Given the description of an element on the screen output the (x, y) to click on. 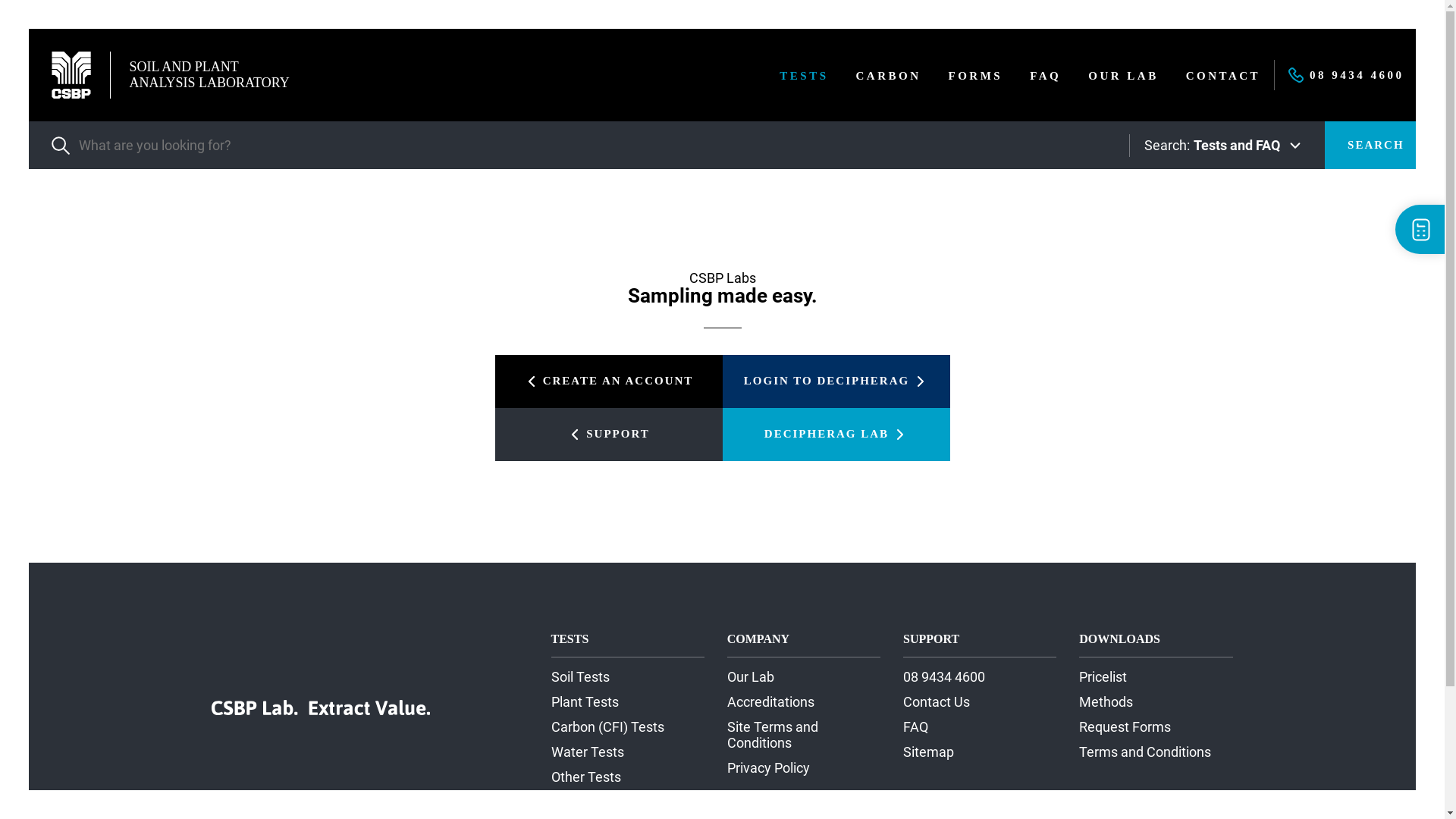
Soil Tests Element type: text (580, 676)
Contact Us Element type: text (936, 701)
Privacy Policy Element type: text (768, 767)
CSBP Element type: hover (71, 74)
Plant Tests Element type: text (584, 701)
TESTS Element type: text (803, 75)
Our Lab Element type: text (750, 676)
Site Terms and Conditions Element type: text (772, 734)
CREATE AN ACCOUNT Element type: text (607, 380)
Water Tests Element type: text (587, 751)
SOIL AND PLANT
ANALYSIS LABORATORY Element type: text (169, 74)
Accreditations Element type: text (770, 701)
SEARCH Element type: text (1375, 145)
Request Forms Element type: text (1124, 726)
Other Tests Element type: text (586, 776)
CSBP Lab. Extract Value. Element type: hover (320, 707)
SUPPORT Element type: text (607, 434)
DECIPHERAG LAB Element type: text (835, 434)
Sitemap Element type: text (928, 751)
Methods Element type: text (1105, 701)
OUR LAB Element type: text (1122, 75)
CONTACT Element type: text (1223, 75)
Terms and Conditions Element type: text (1145, 751)
LOGIN TO DECIPHERAG Element type: text (835, 380)
FAQ Element type: text (1045, 75)
Search Element type: hover (595, 145)
CARBON Element type: text (887, 75)
Carbon (CFI) Tests Element type: text (607, 726)
FAQ Element type: text (915, 726)
08 9434 4600 Element type: text (944, 676)
FORMS Element type: text (975, 75)
Pricelist Element type: text (1102, 676)
